Given the description of an element on the screen output the (x, y) to click on. 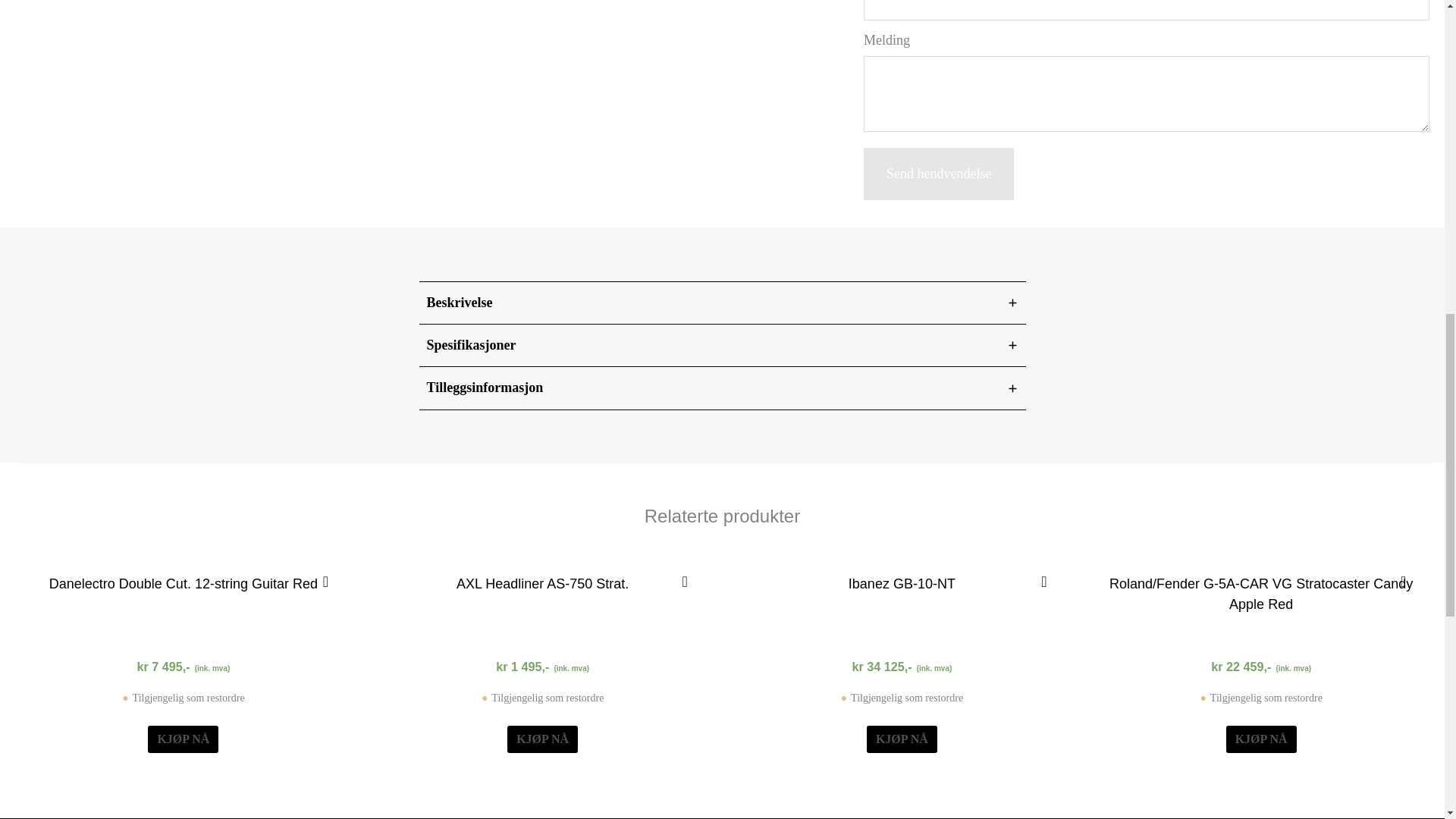
Send hendvendelse (938, 173)
